Given the description of an element on the screen output the (x, y) to click on. 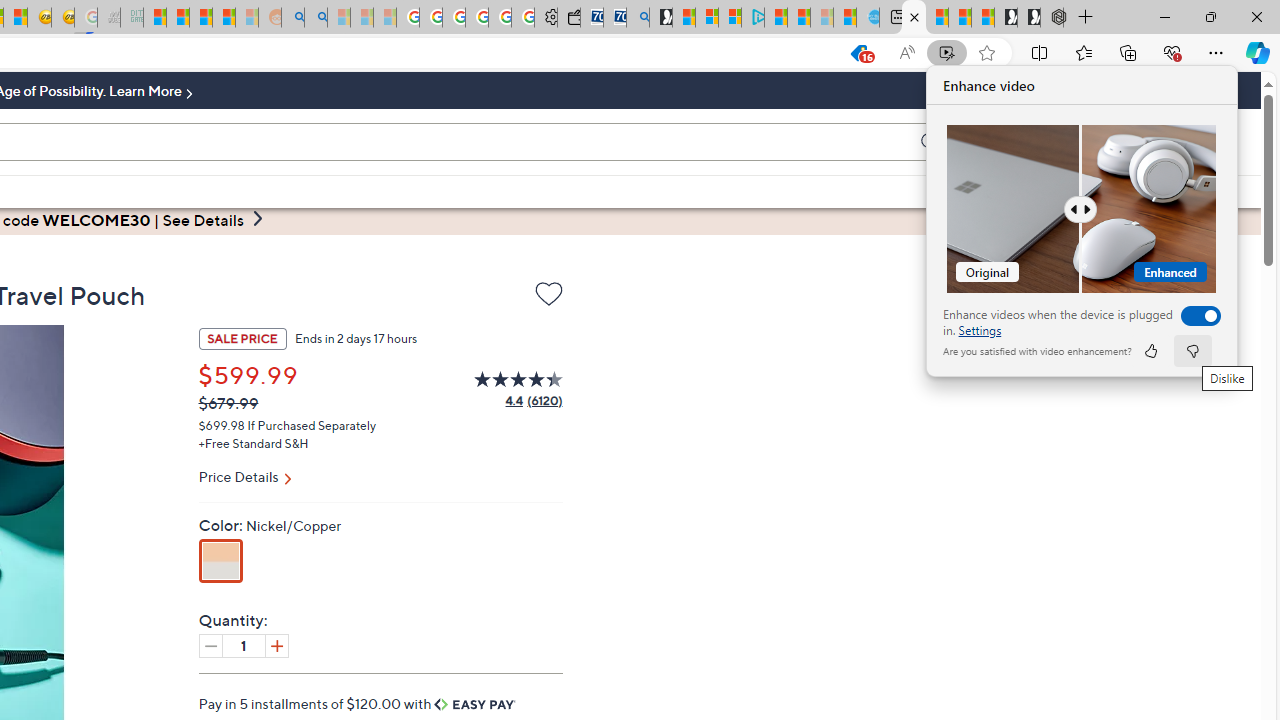
Utah sues federal government - Search (315, 17)
Like (1150, 350)
Bing Real Estate - Home sales and rental listings (637, 17)
Decrease quantity by 1 (210, 645)
Increase quantity by 1 (276, 645)
Enhance videos (1196, 316)
